Given the description of an element on the screen output the (x, y) to click on. 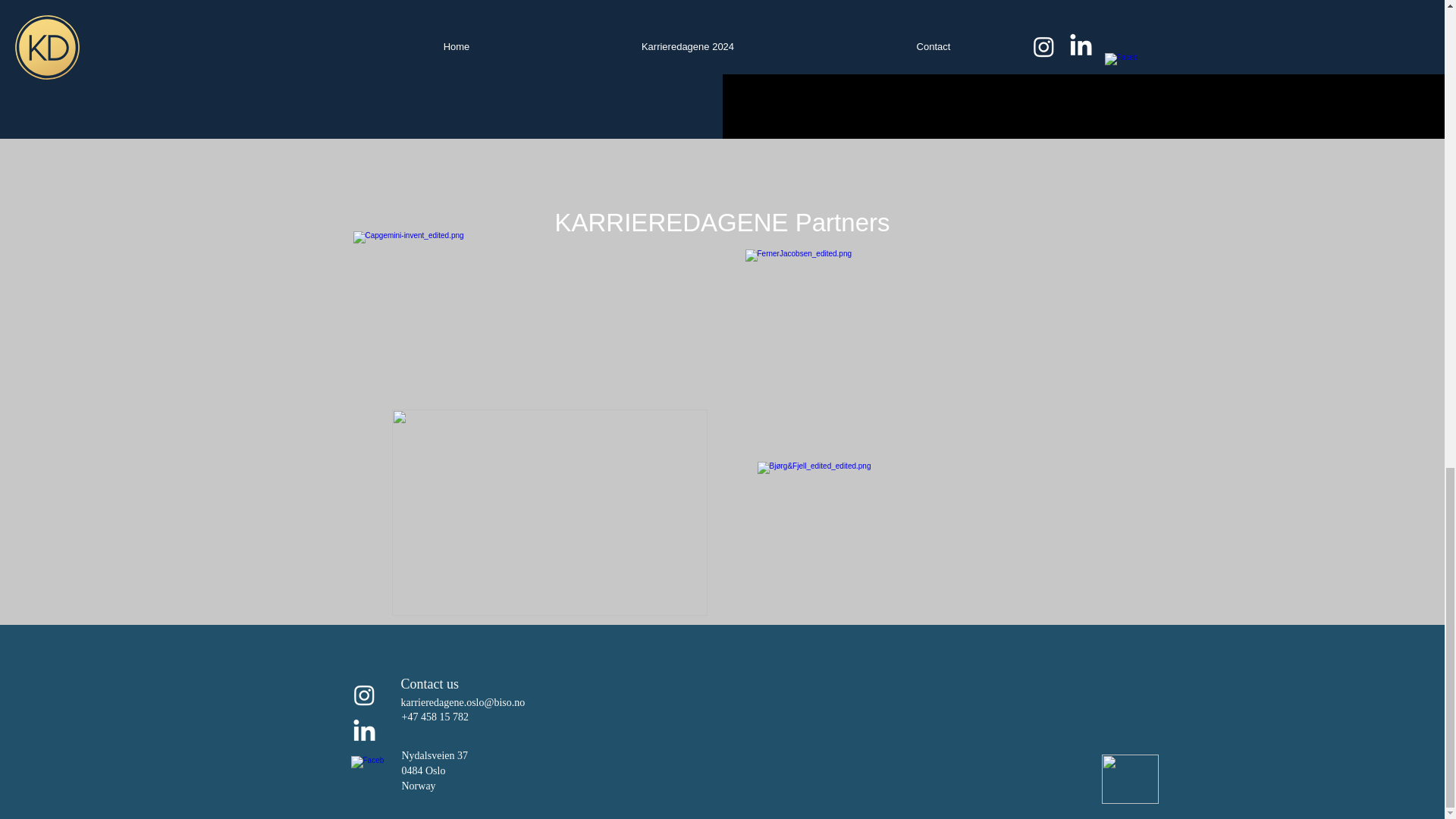
storebrand-logo.png (548, 512)
Capgemini-invent.logo.png (549, 340)
FernerJacobsen.logo.png (904, 339)
